Given the description of an element on the screen output the (x, y) to click on. 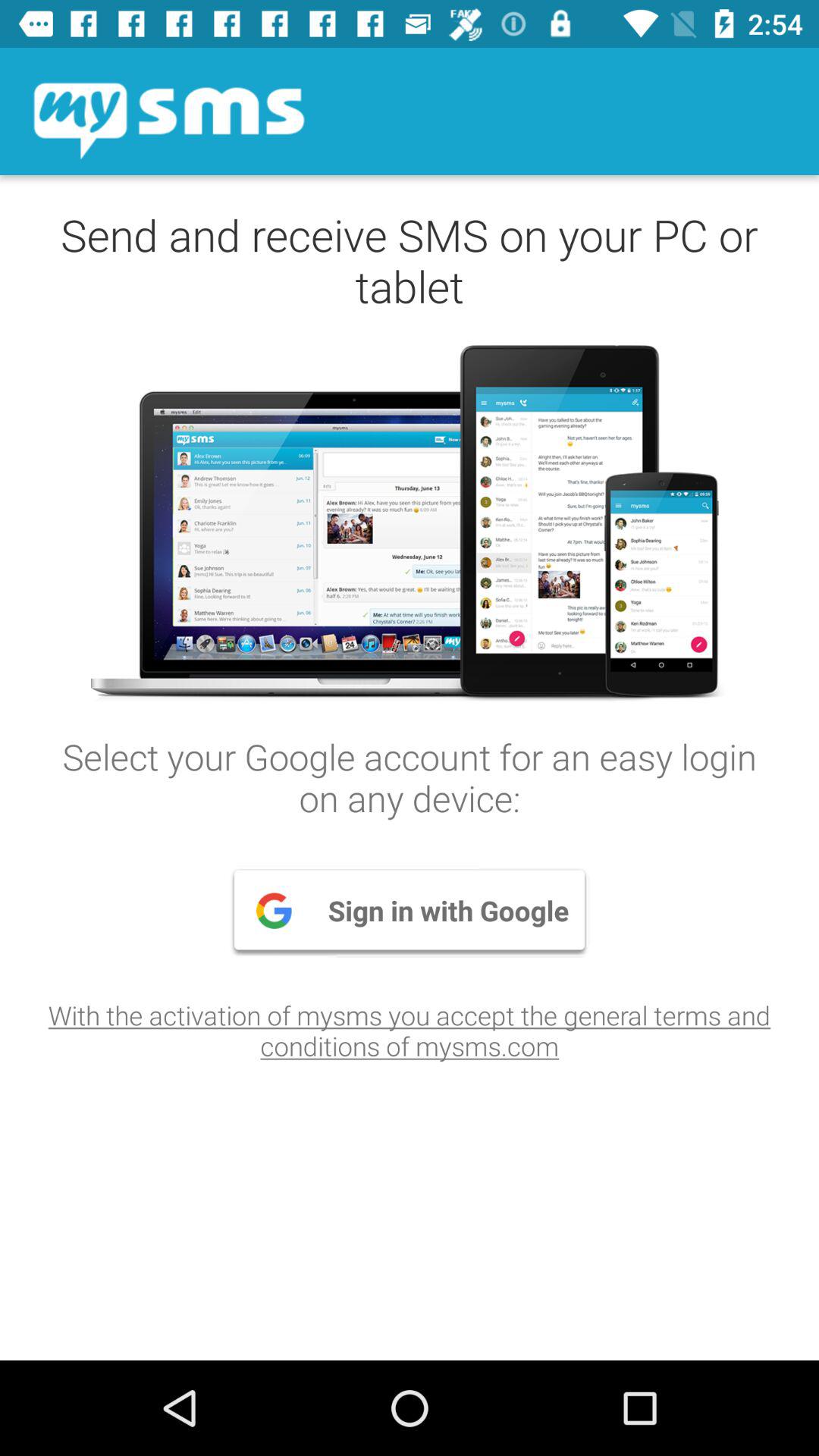
click item below sign in with (409, 1030)
